Given the description of an element on the screen output the (x, y) to click on. 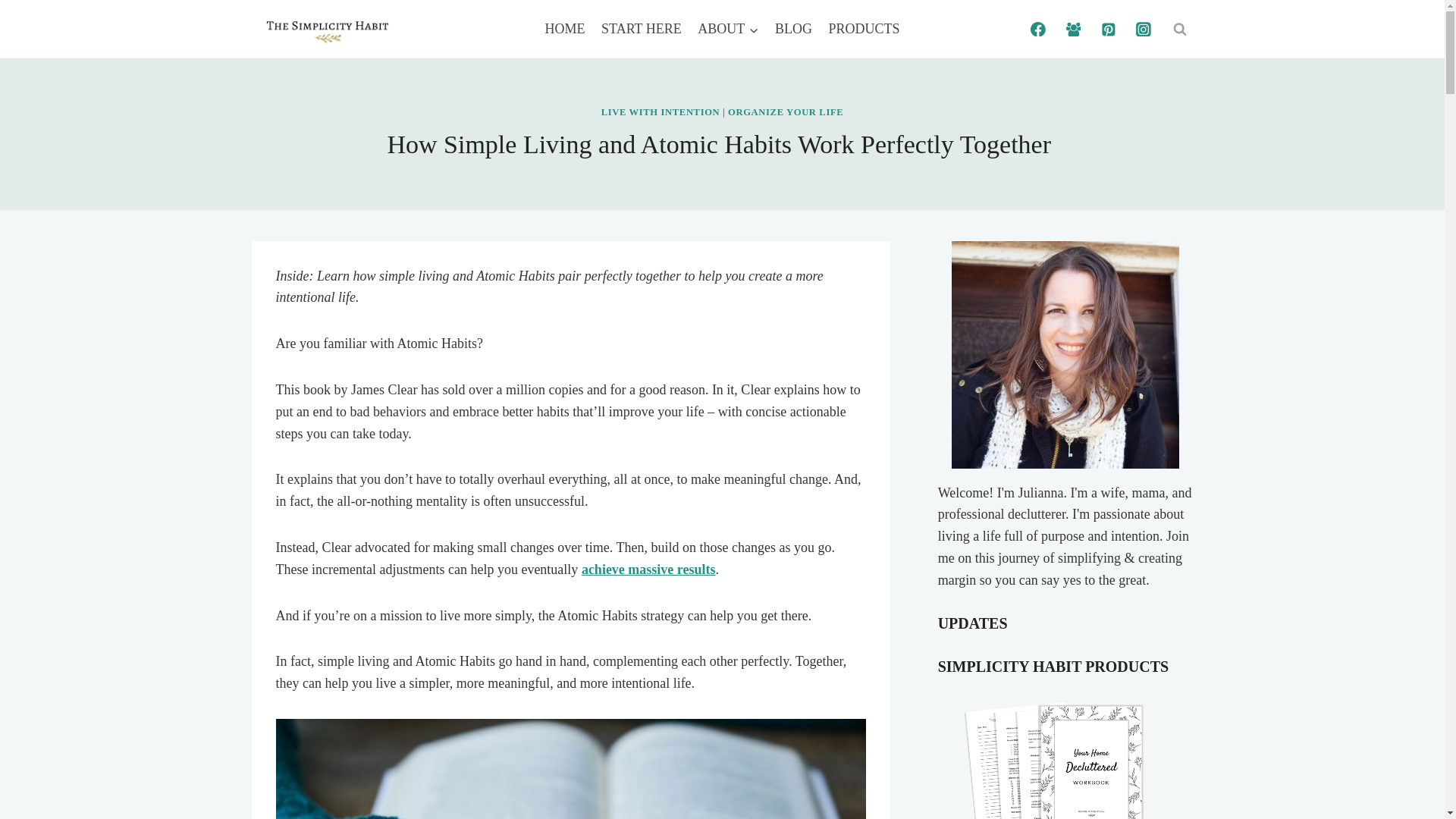
LIVE WITH INTENTION (660, 112)
BLOG (794, 28)
achieve massive results (648, 569)
PRODUCTS (864, 28)
ORGANIZE YOUR LIFE (785, 112)
Simplicity Habit Products (1065, 752)
HOME (565, 28)
START HERE (640, 28)
ABOUT (728, 28)
